Given the description of an element on the screen output the (x, y) to click on. 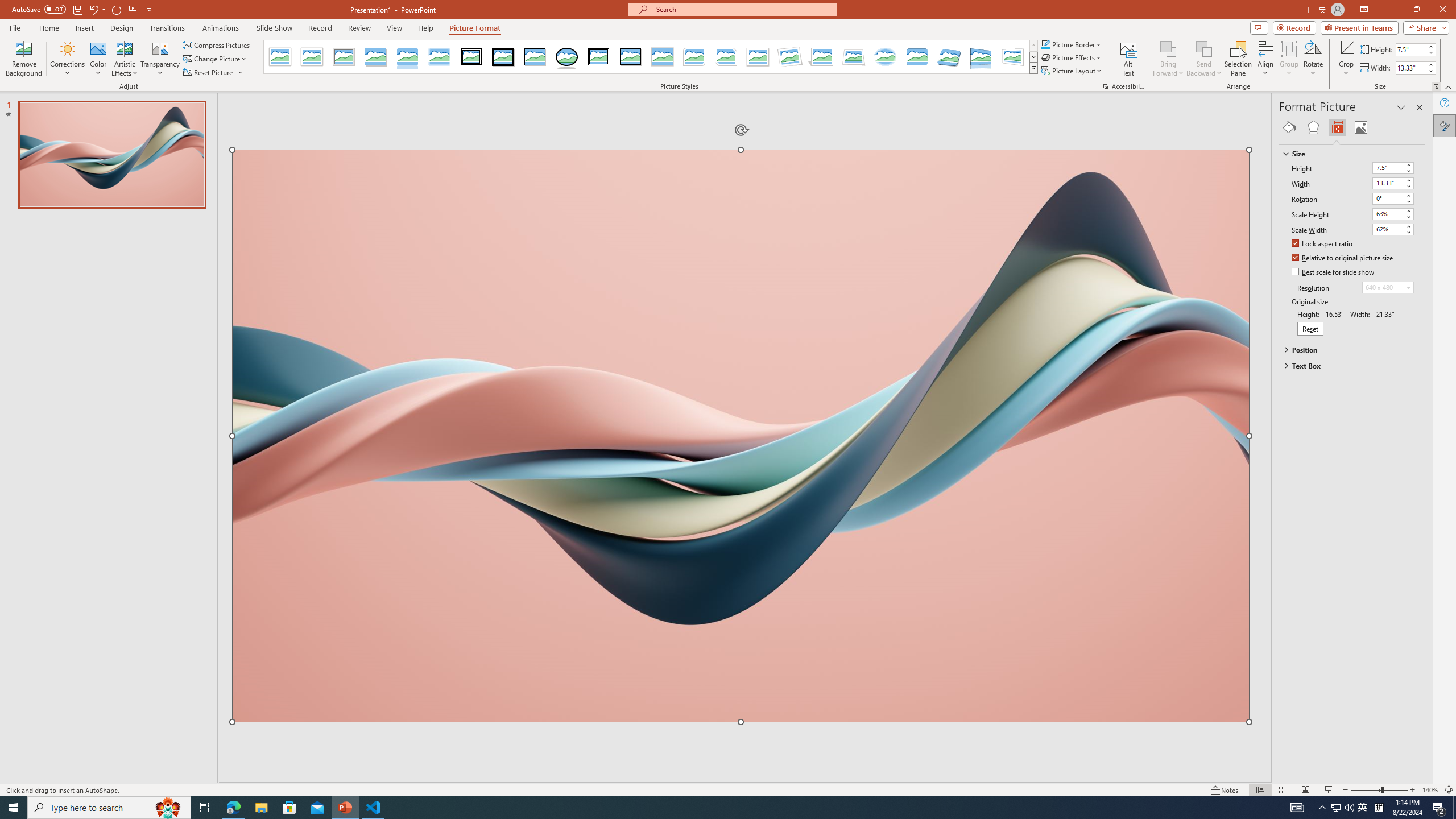
Fill & Line (1288, 126)
Scale Width (1393, 229)
Compress Pictures... (217, 44)
Zoom 140% (1430, 790)
Crop (1345, 48)
Scale Height (1393, 214)
View (395, 28)
Text Box (1347, 365)
File Tab (15, 27)
Save (77, 9)
Customize Quick Access Toolbar (149, 9)
Less (1430, 70)
Microsoft search (742, 9)
Beveled Matte, White (312, 56)
Width (1388, 182)
